Given the description of an element on the screen output the (x, y) to click on. 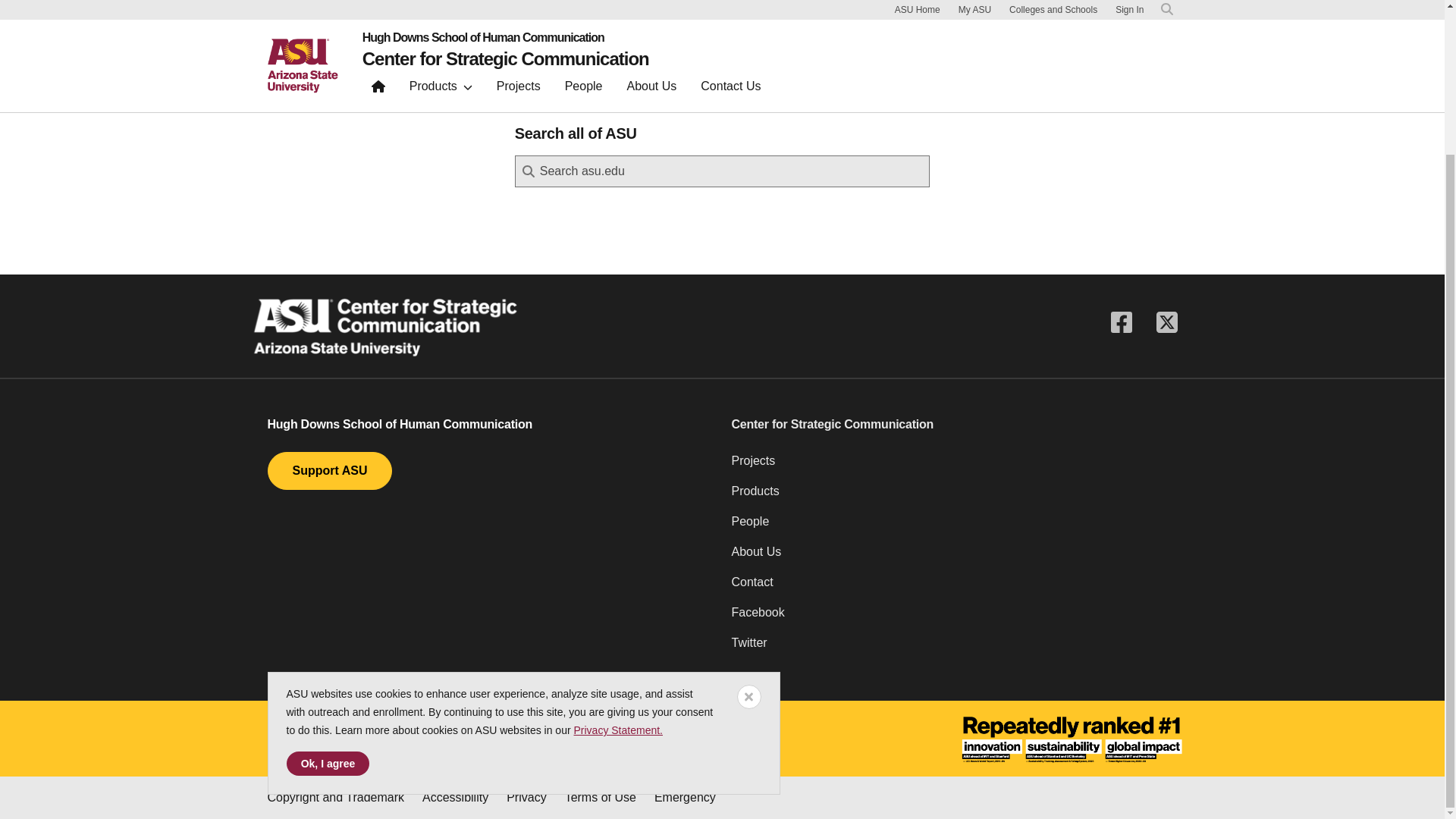
Privacy Statement. (617, 550)
Twitter (953, 648)
Support ASU (328, 470)
About Us (953, 557)
My ASU (634, 738)
People (953, 527)
Jobs (415, 738)
Directory (475, 738)
Contact (953, 588)
Center for Strategic Communication (953, 424)
Maps and Locations (325, 738)
Contact ASU (556, 738)
Products (953, 497)
Facebook Social Media Icon (1119, 322)
Facebook (953, 618)
